Given the description of an element on the screen output the (x, y) to click on. 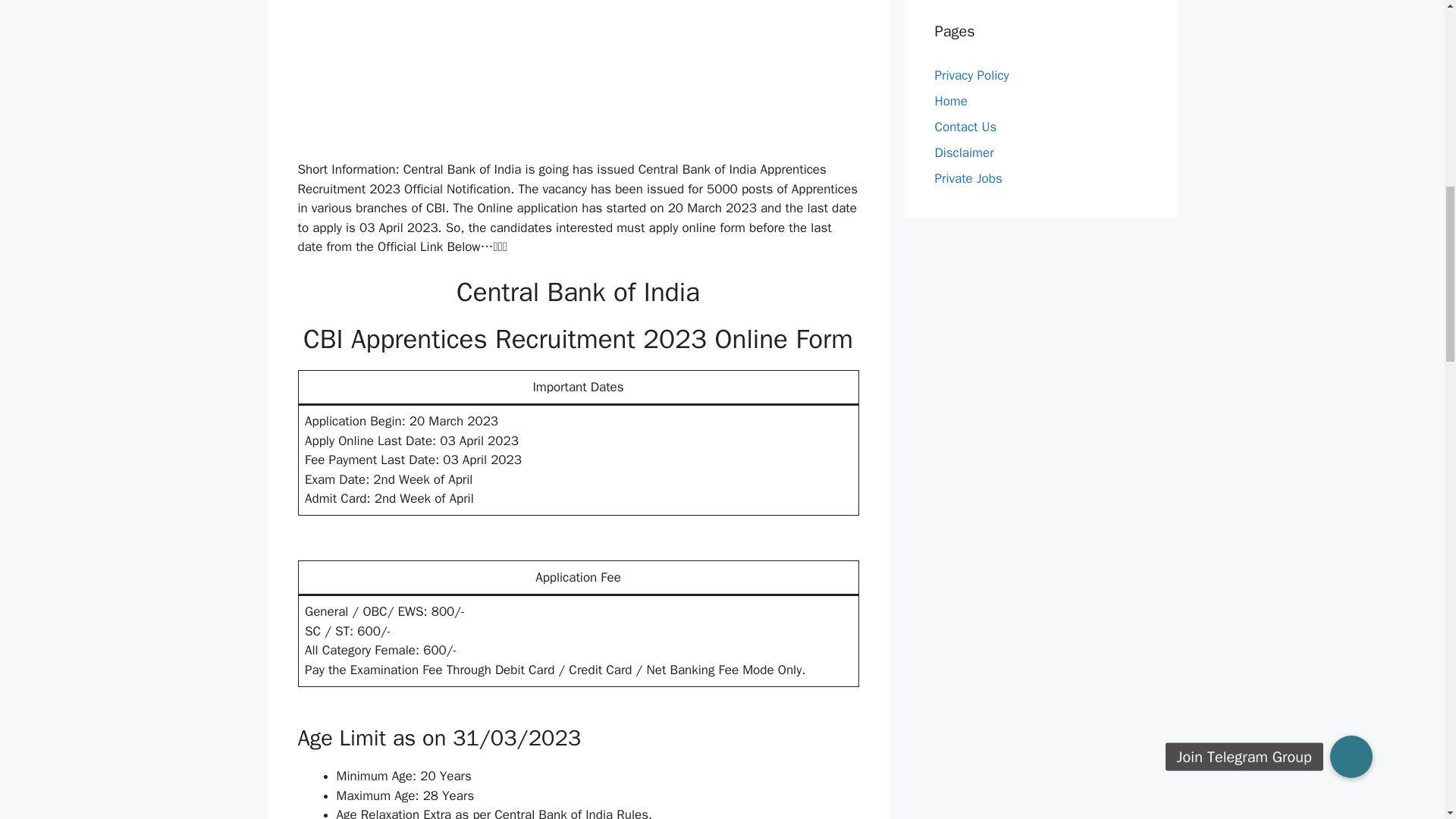
Contact Us (964, 125)
Privacy Policy (971, 74)
Disclaimer (963, 151)
Advertisement (592, 76)
Home (950, 100)
Private Jobs (967, 177)
